Given the description of an element on the screen output the (x, y) to click on. 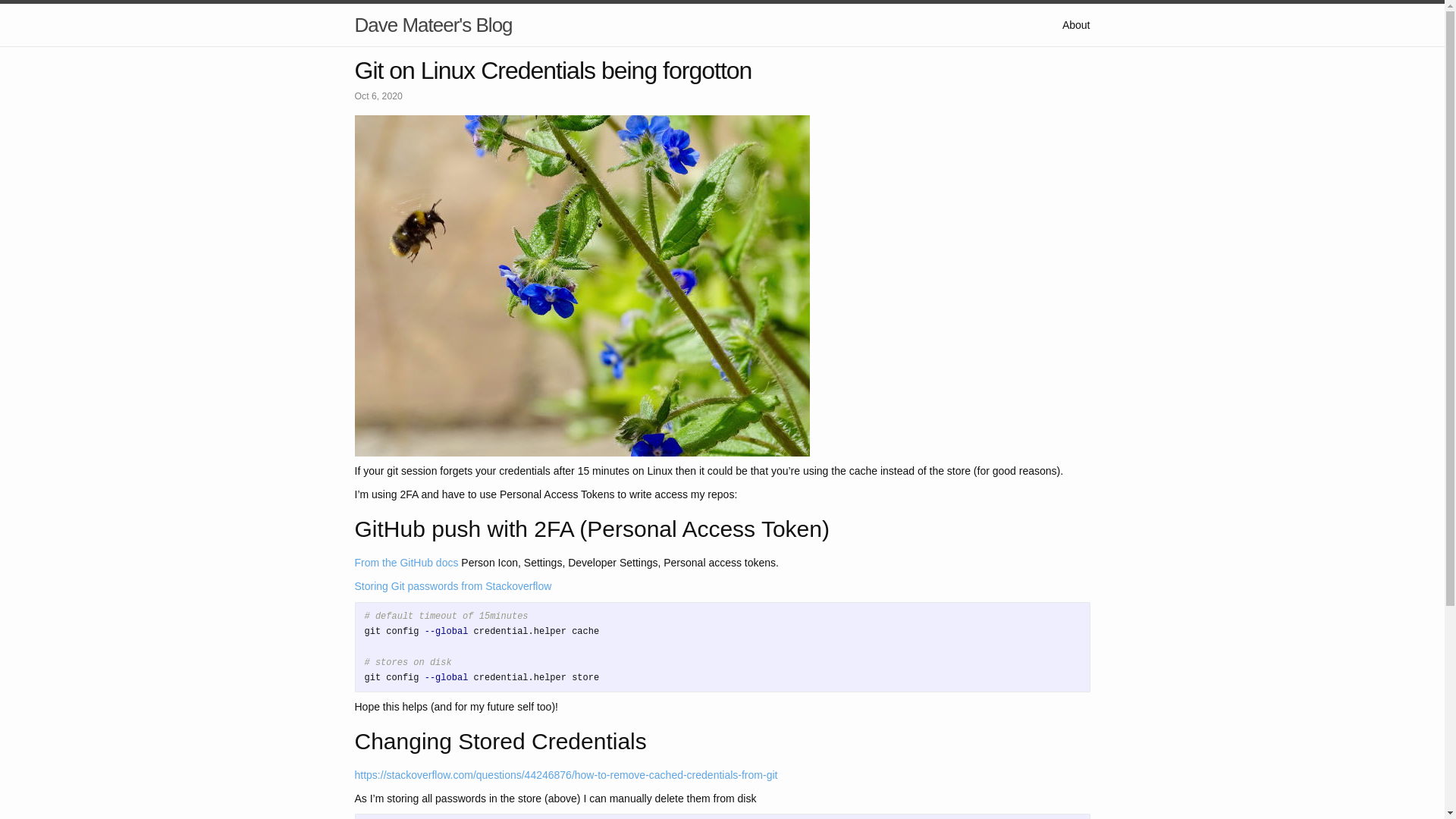
From the GitHub docs (406, 562)
Storing Git passwords from Stackoverflow (453, 585)
About (1076, 24)
Dave Mateer's Blog (433, 24)
